Given the description of an element on the screen output the (x, y) to click on. 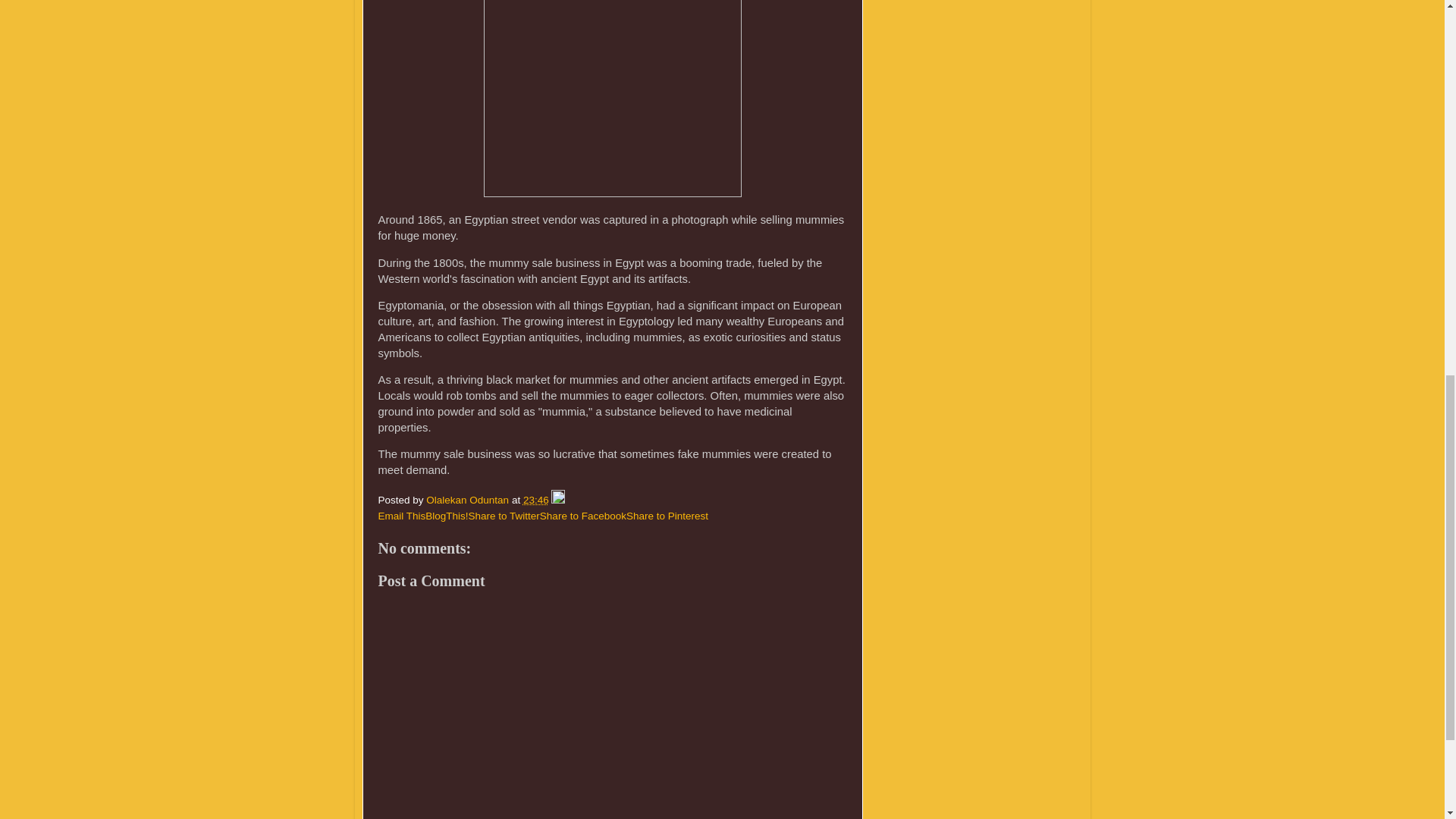
23:46 (535, 500)
Share to Twitter (504, 515)
Email This (401, 515)
Olalekan Oduntan (469, 500)
Share to Facebook (583, 515)
Share to Twitter (504, 515)
Share to Facebook (583, 515)
Edit Post (557, 500)
Share to Pinterest (666, 515)
BlogThis! (446, 515)
